Given the description of an element on the screen output the (x, y) to click on. 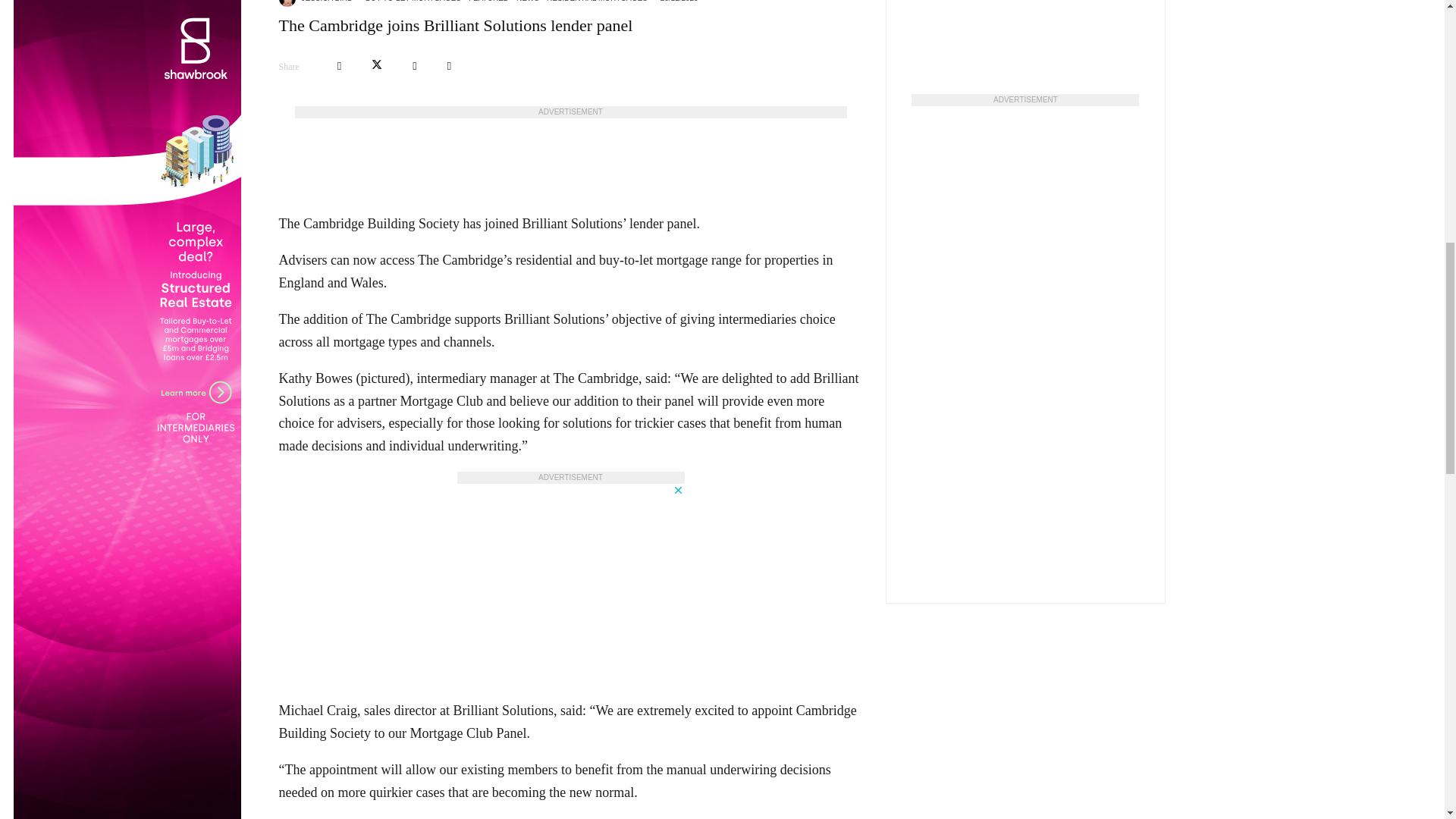
3rd party ad content (1024, 33)
3rd party ad content (569, 151)
3rd party ad content (570, 578)
